Given the description of an element on the screen output the (x, y) to click on. 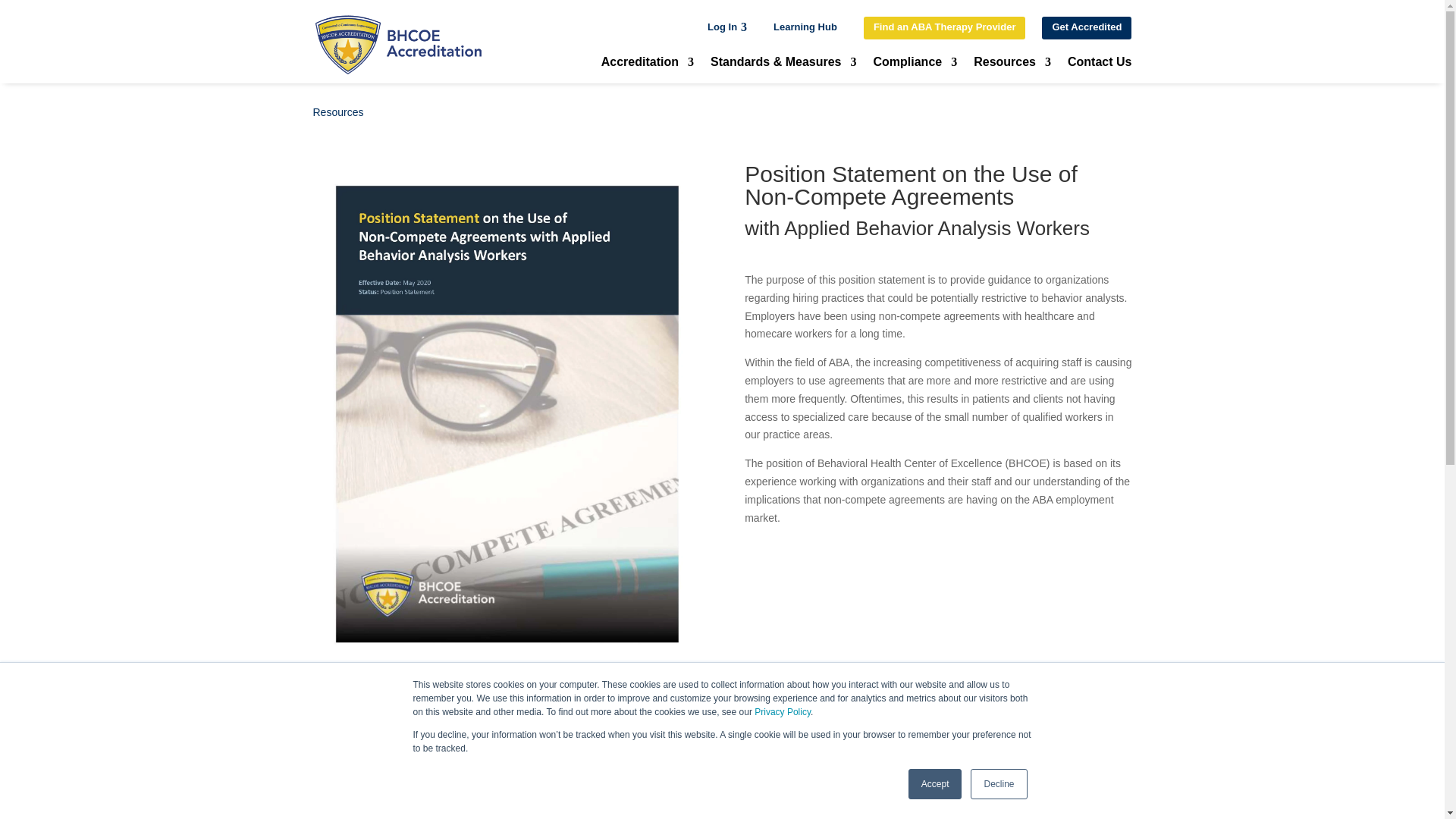
Form 0 (937, 684)
Privacy Policy (782, 711)
Decline (998, 784)
Accept (935, 784)
